Given the description of an element on the screen output the (x, y) to click on. 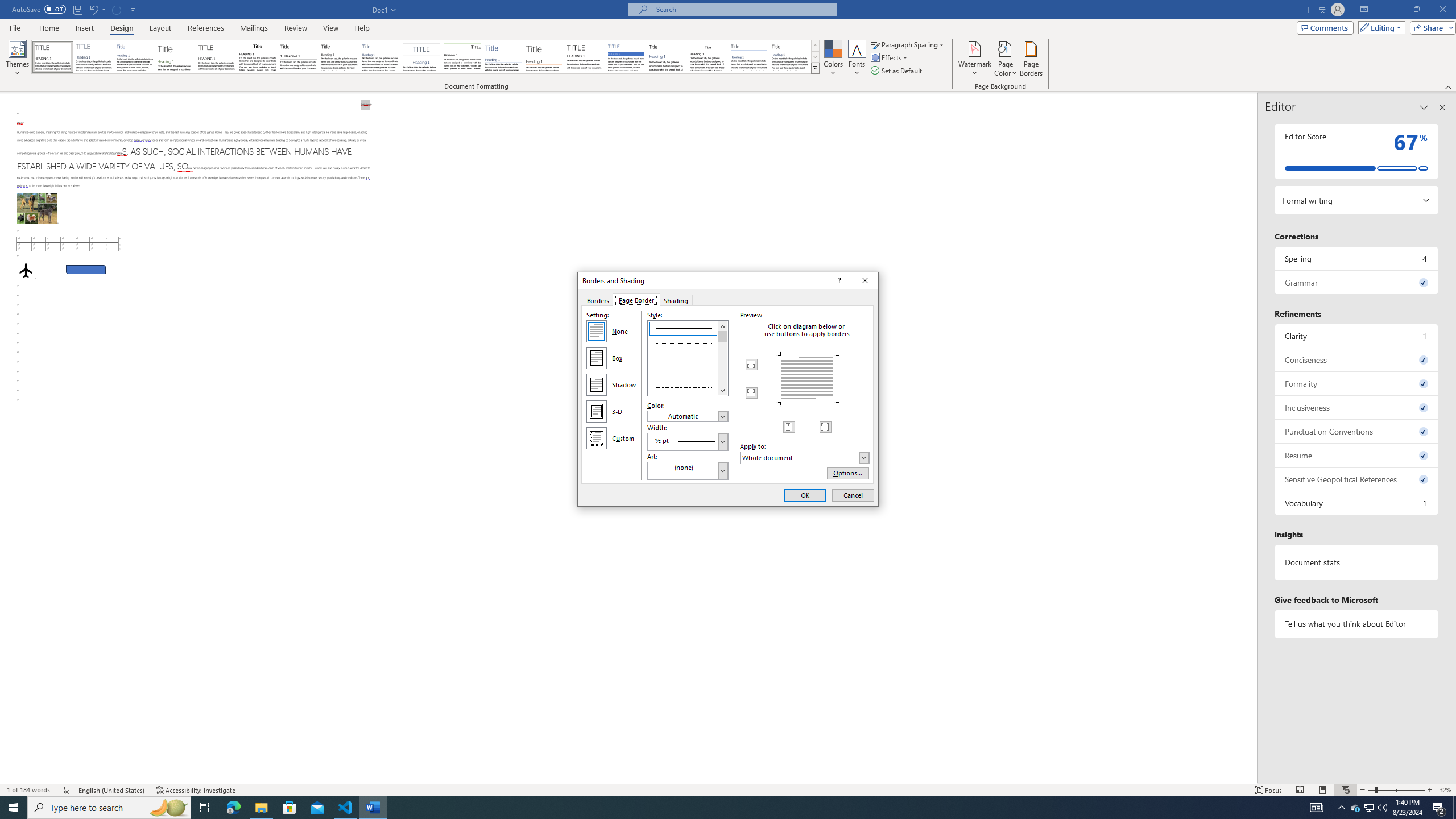
User Promoted Notification Area (1368, 807)
Dash dot (687, 386)
Editor Score 67% (1356, 151)
Word (666, 56)
AutomationID: 4105 (1316, 807)
Set as Default (897, 69)
Rectangle: Diagonal Corners Snipped 2 (85, 269)
Q2790: 100% (1382, 807)
File Explorer - 1 running window (261, 807)
